Given the description of an element on the screen output the (x, y) to click on. 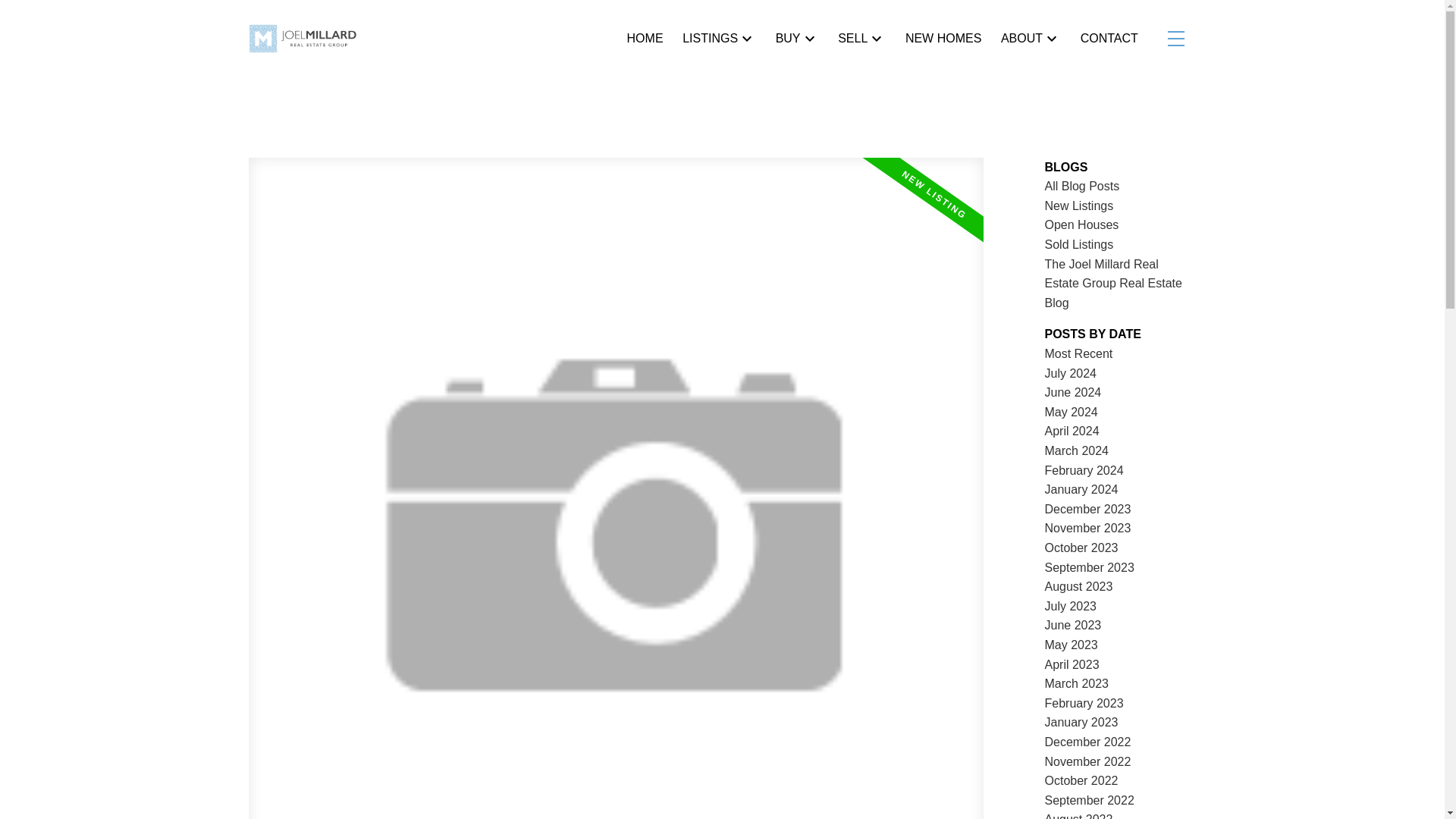
HOME (645, 38)
CONTACT (1109, 38)
February 2024 (1084, 470)
NEW HOMES (943, 38)
September 2023 (1089, 567)
May 2024 (1071, 411)
March 2024 (1077, 450)
July 2023 (1071, 605)
November 2023 (1088, 527)
June 2024 (1073, 391)
October 2023 (1081, 547)
August 2023 (1079, 585)
January 2024 (1081, 489)
July 2024 (1071, 373)
Most Recent (1079, 353)
